Given the description of an element on the screen output the (x, y) to click on. 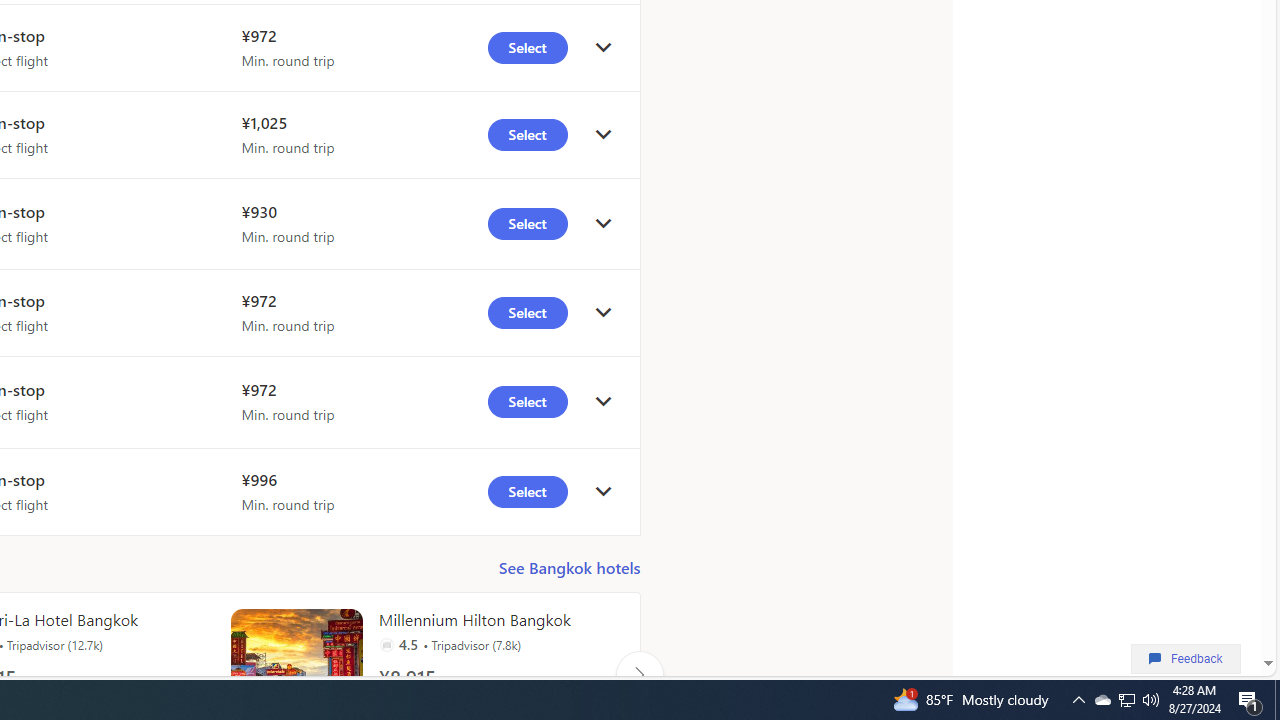
click to get details (603, 491)
Tripadvisor (386, 644)
Click to scroll right (639, 674)
